Given the description of an element on the screen output the (x, y) to click on. 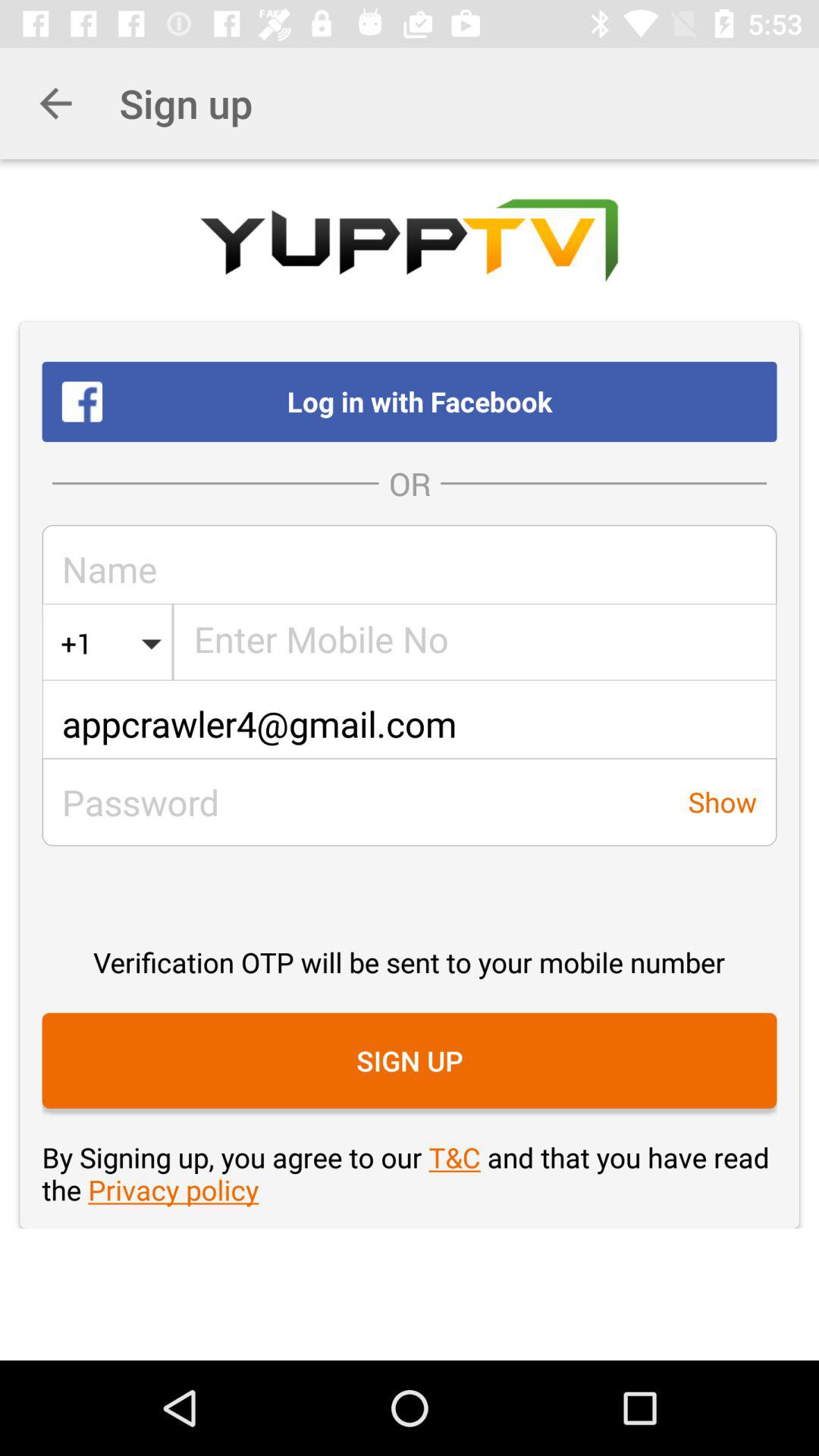
launch the item above united states item (409, 568)
